Given the description of an element on the screen output the (x, y) to click on. 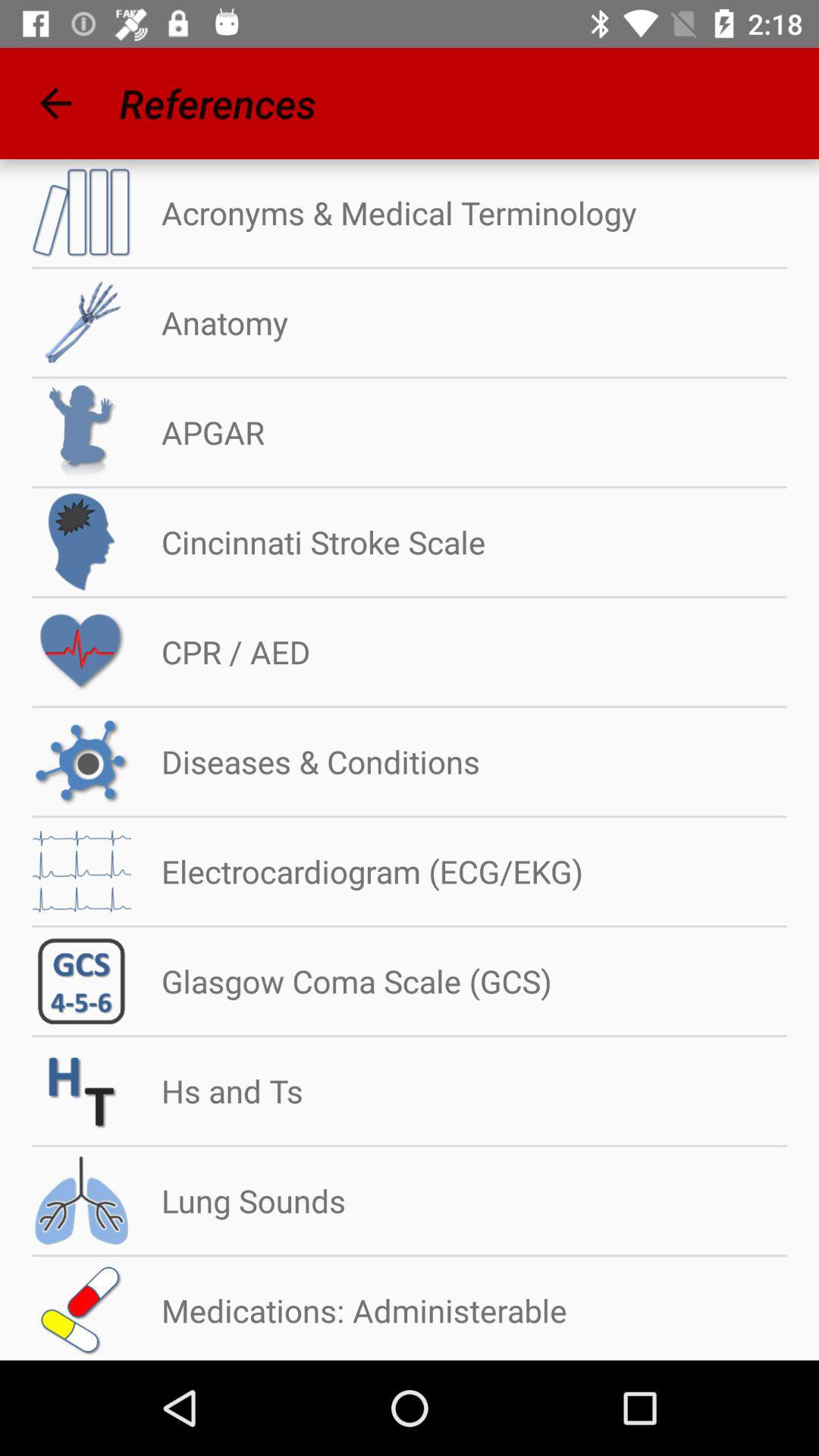
press cincinnati stroke scale (308, 542)
